Given the description of an element on the screen output the (x, y) to click on. 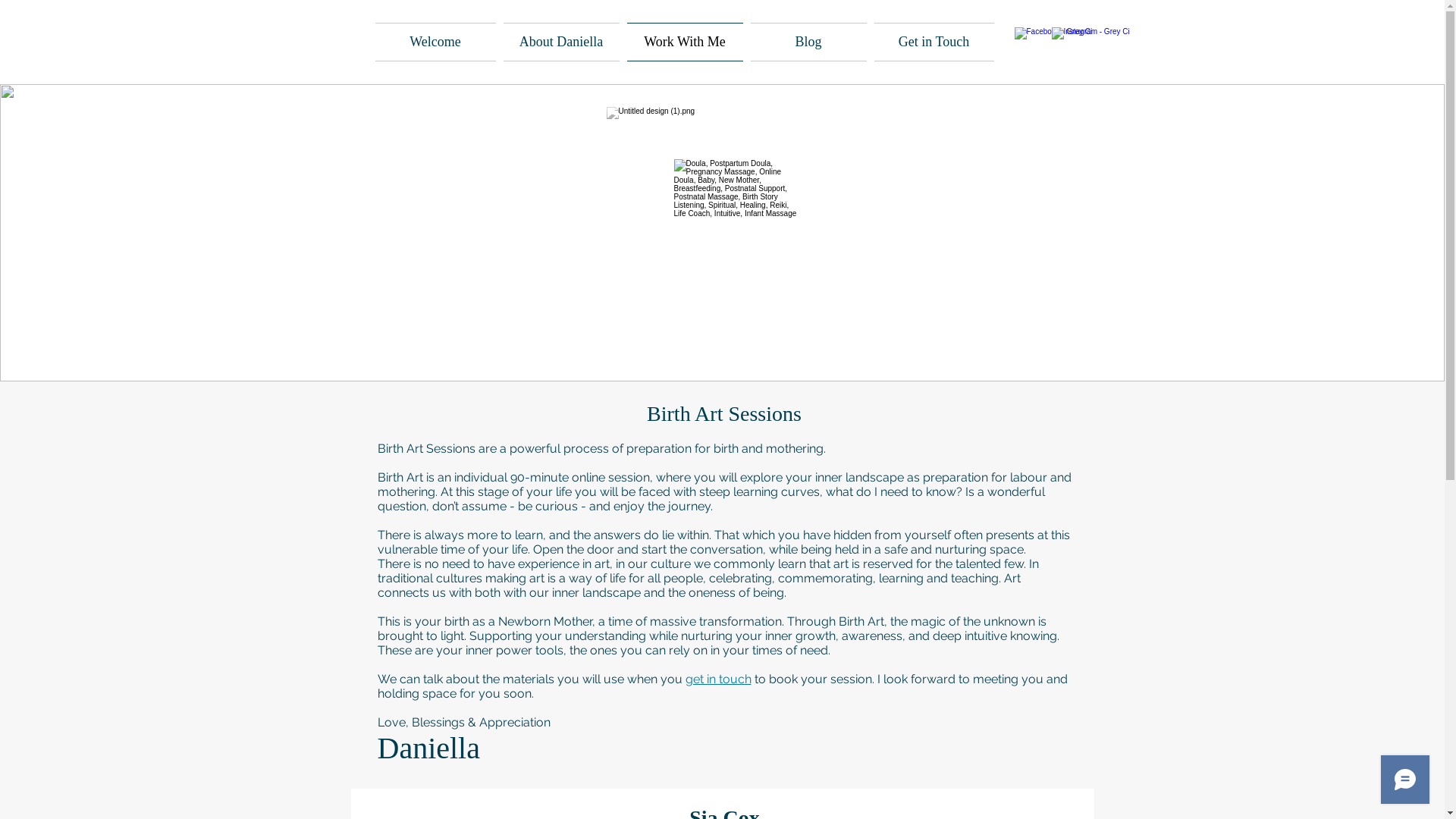
Work With Me Element type: text (684, 41)
Blog Element type: text (807, 41)
About Daniella Element type: text (560, 41)
Get in Touch Element type: text (932, 41)
Welcome Element type: text (436, 41)
get in touch Element type: text (718, 678)
